Given the description of an element on the screen output the (x, y) to click on. 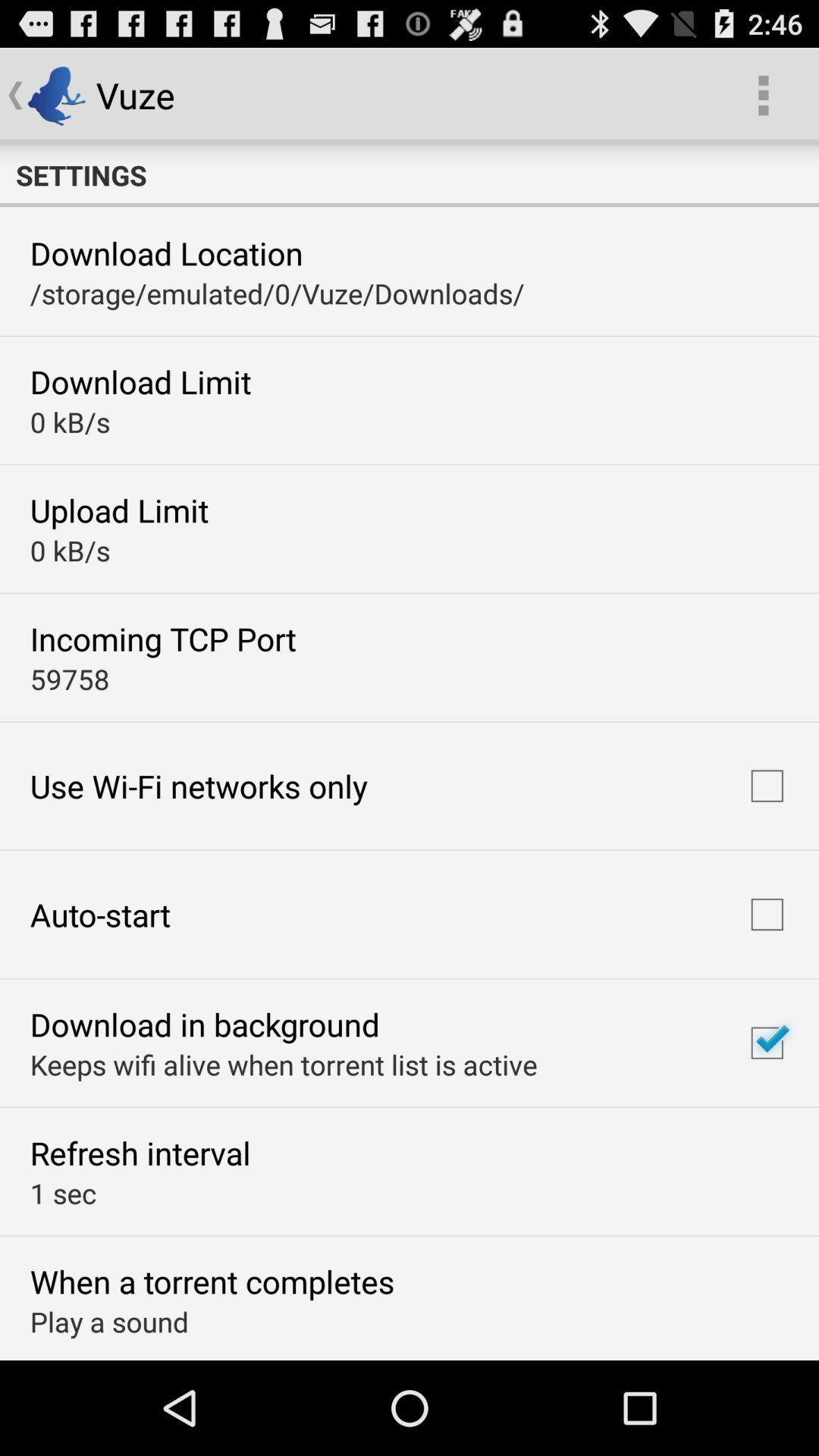
flip until incoming tcp port app (163, 638)
